Given the description of an element on the screen output the (x, y) to click on. 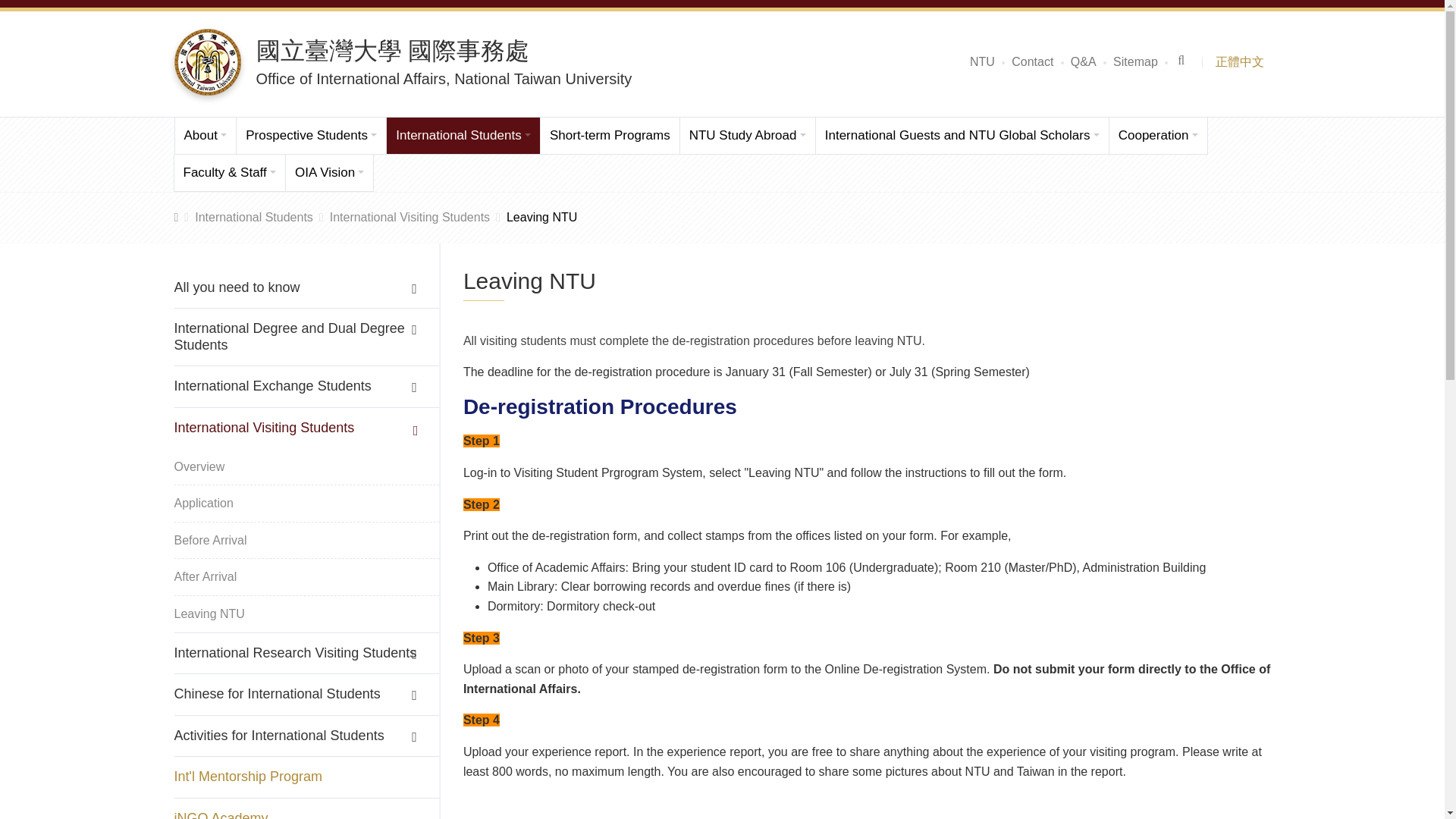
Sitemap (1135, 62)
NTU (981, 62)
Prospective Students (310, 135)
Sitemap (1135, 62)
NTU (981, 62)
Contact (1031, 62)
Short-term Programs (609, 135)
About (204, 135)
NTU Study Abroad (747, 135)
Contact (1031, 62)
International Guests and NTU Global Scholars (961, 135)
International Students (463, 135)
